Given the description of an element on the screen output the (x, y) to click on. 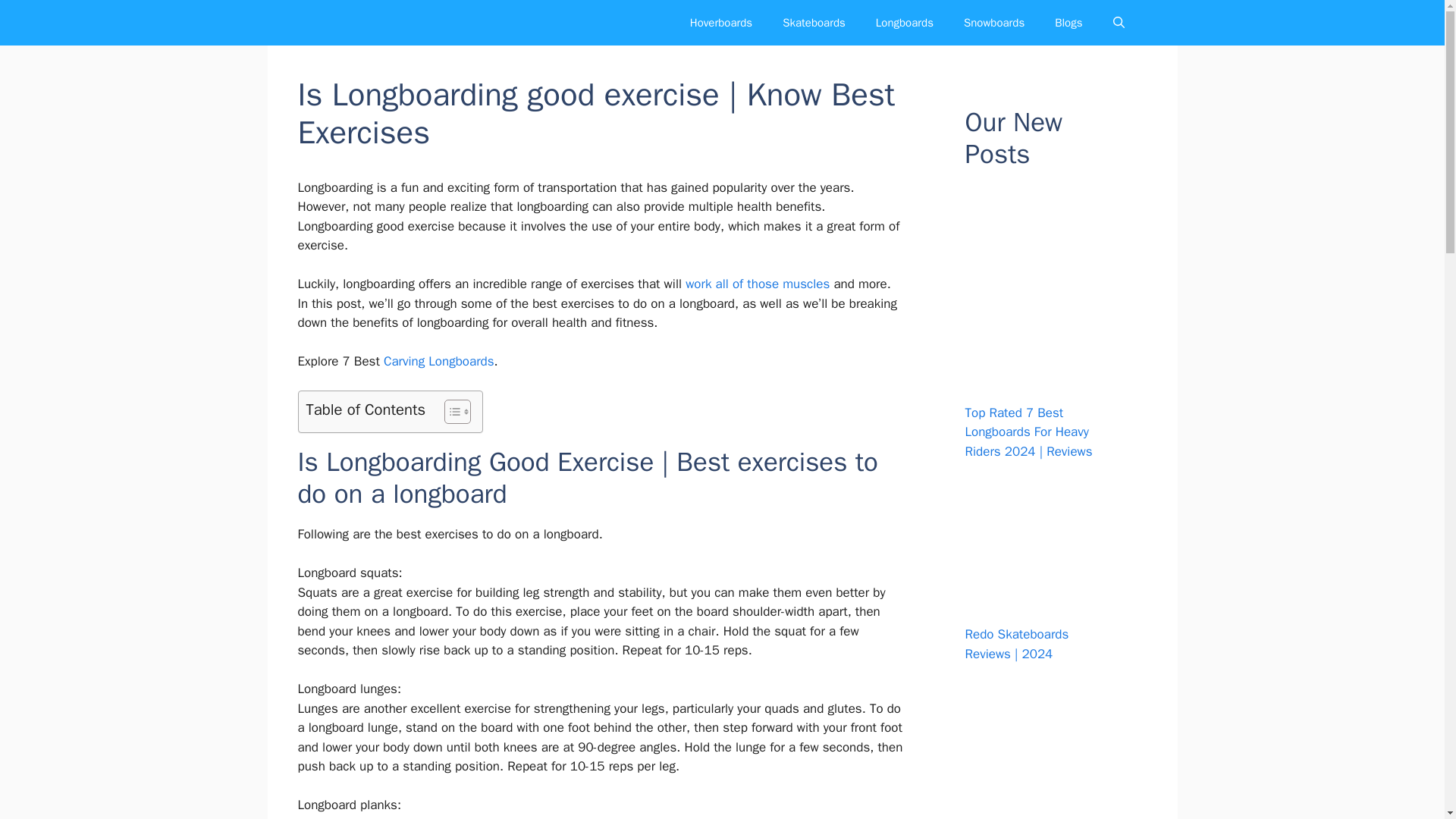
Longboards (904, 22)
Carving Longboards (439, 360)
Best Hoverboard Guru (336, 22)
Hoverboards (721, 22)
Blogs (1068, 22)
Skateboards (813, 22)
work all of those muscles (757, 283)
Snowboards (994, 22)
